Given the description of an element on the screen output the (x, y) to click on. 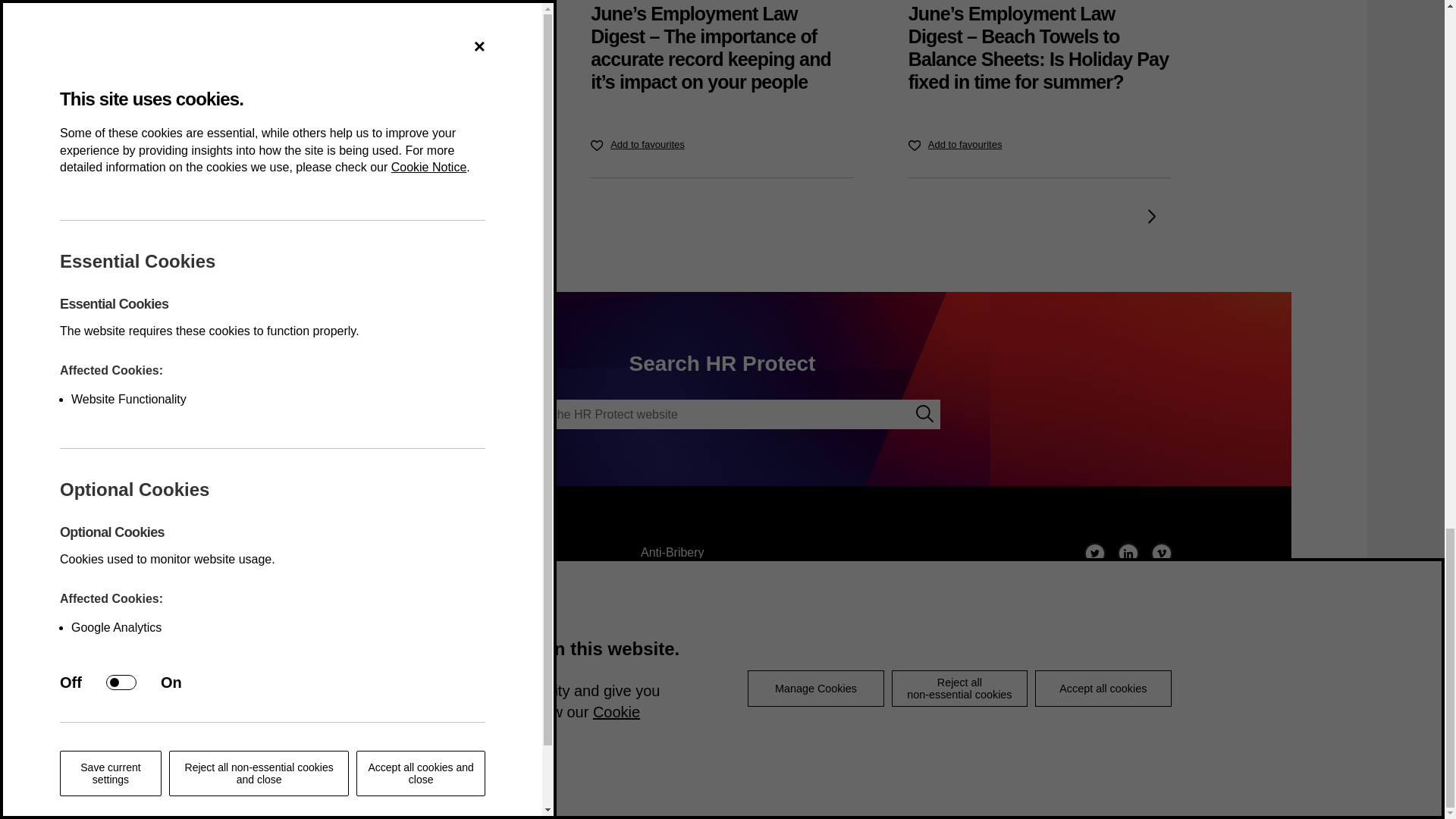
Careers (294, 619)
Media Centre (309, 552)
Add to favourites (319, 145)
Next (1151, 216)
Add to favourites (955, 145)
Pricing (291, 574)
Add to favourites (955, 145)
Add to favourites (319, 145)
Add to favourites (637, 145)
Add to favourites (637, 145)
Locations (298, 597)
Previous (292, 216)
